Given the description of an element on the screen output the (x, y) to click on. 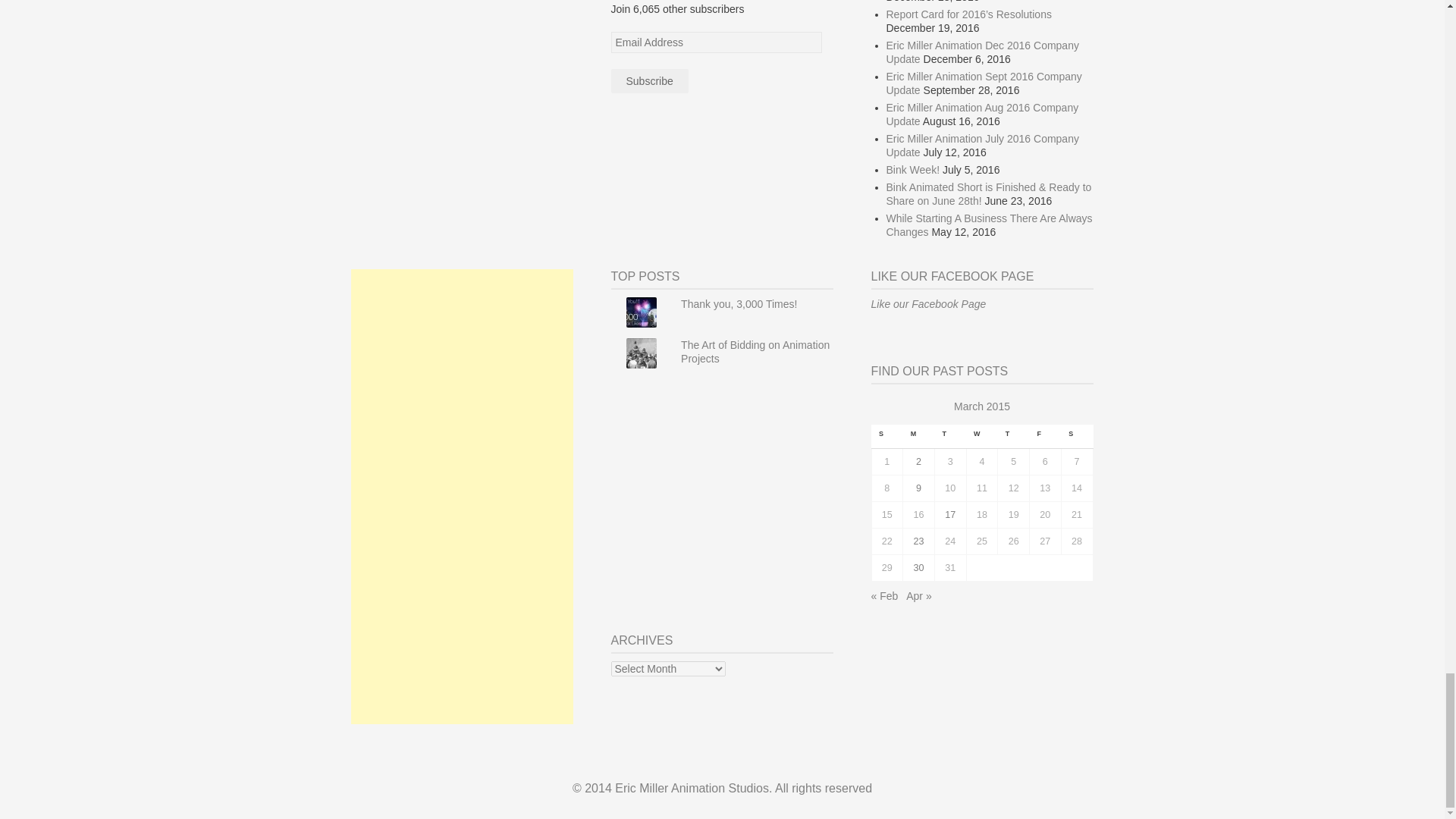
Thank you, 3,000 Times! (738, 304)
The Art of Bidding on Animation Projects (755, 351)
